Given the description of an element on the screen output the (x, y) to click on. 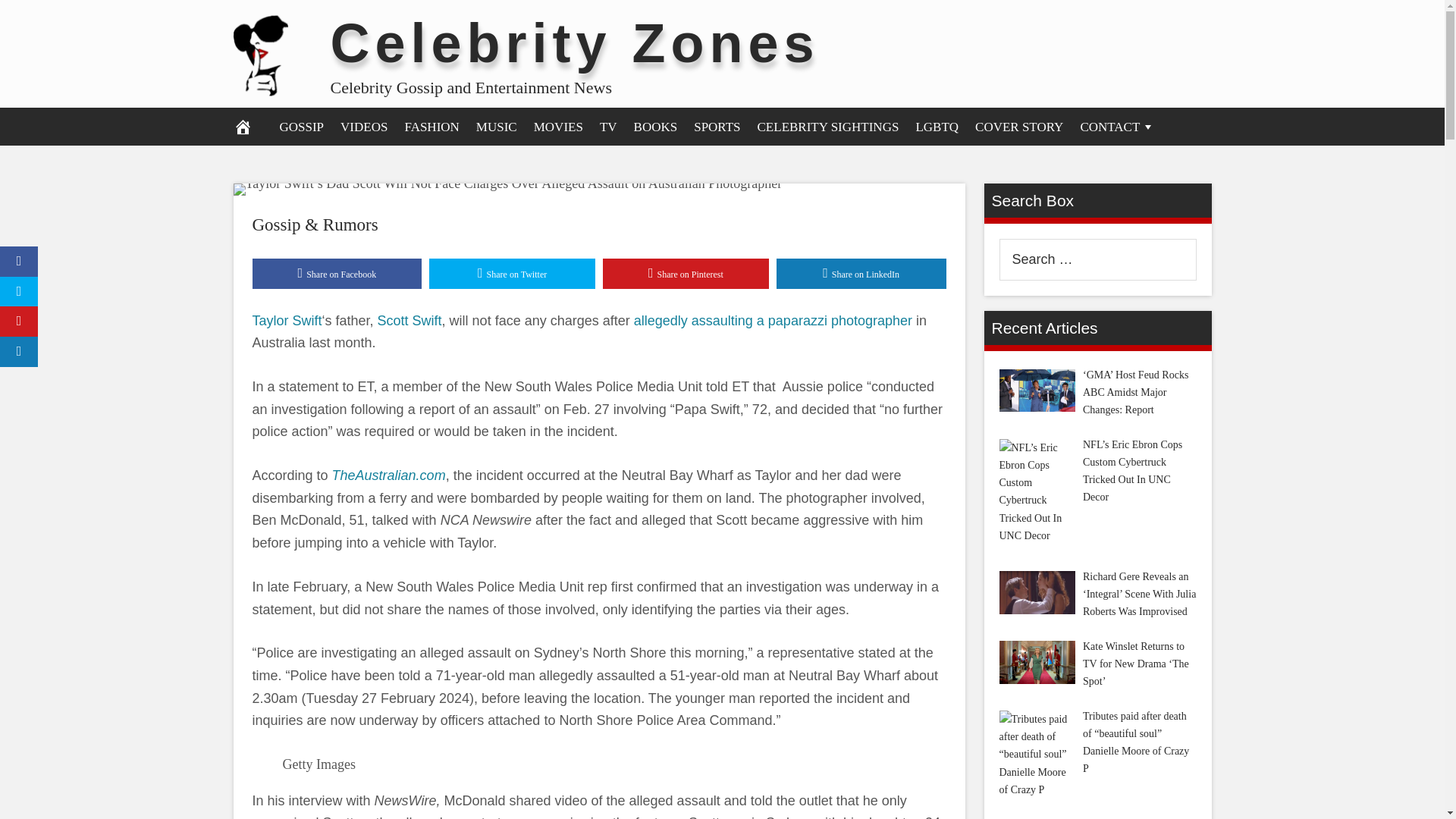
CONTACT (1117, 126)
MUSIC (496, 126)
LGBTQ (936, 126)
BOOKS (655, 126)
TV (608, 126)
MOVIES (558, 126)
GOSSIP (301, 126)
CELEBRITY SIGHTINGS (828, 126)
